Given the description of an element on the screen output the (x, y) to click on. 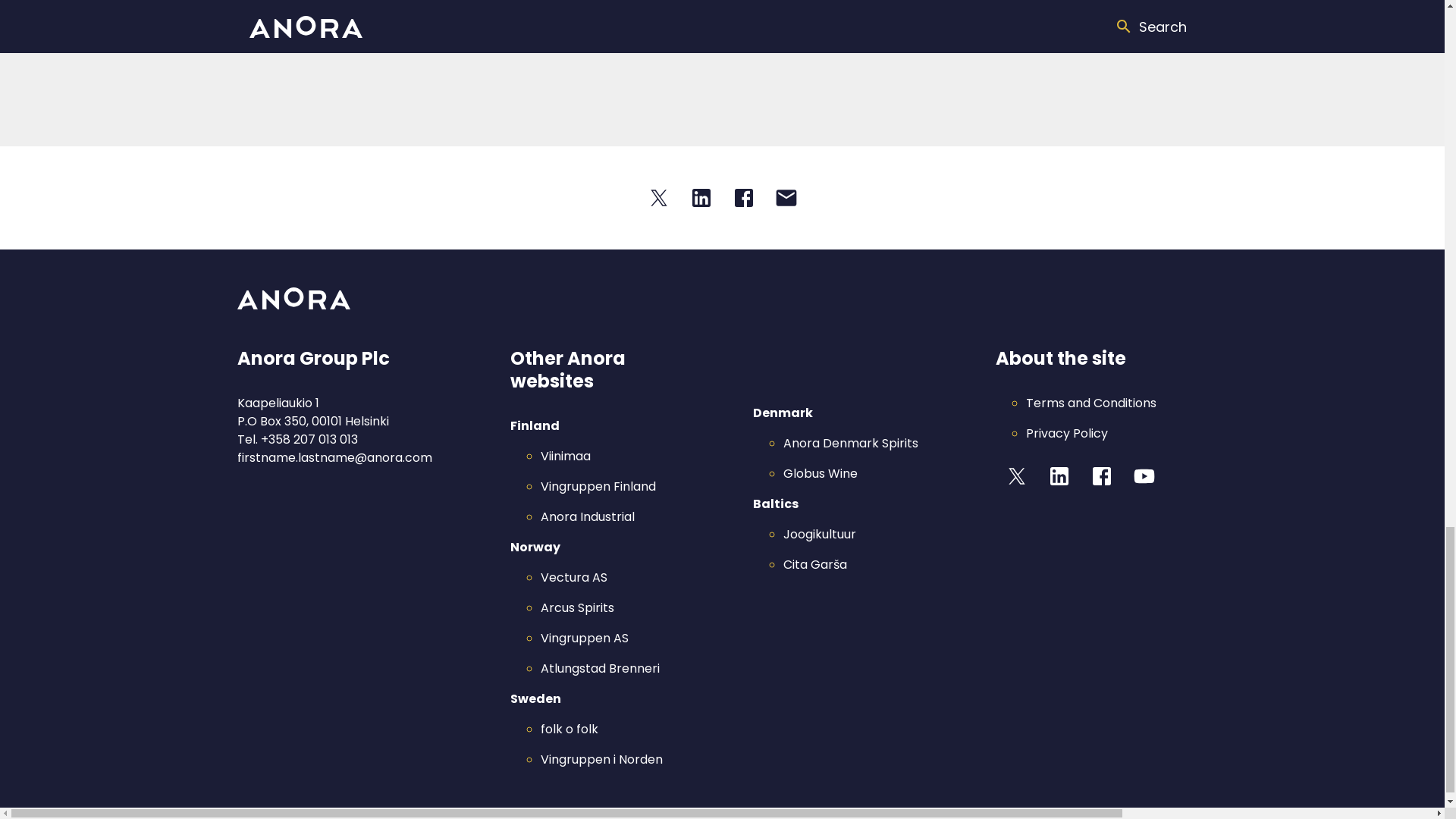
Privacy Policy (1065, 433)
folk o folk (568, 728)
Globus Wine (820, 473)
Anora Industrial (586, 516)
Viinimaa (564, 456)
Arcus Spirits (576, 607)
Vingruppen Finland (597, 486)
Vingruppen i Norden (601, 759)
Read More (843, 32)
Terms and Conditions (1090, 402)
